Given the description of an element on the screen output the (x, y) to click on. 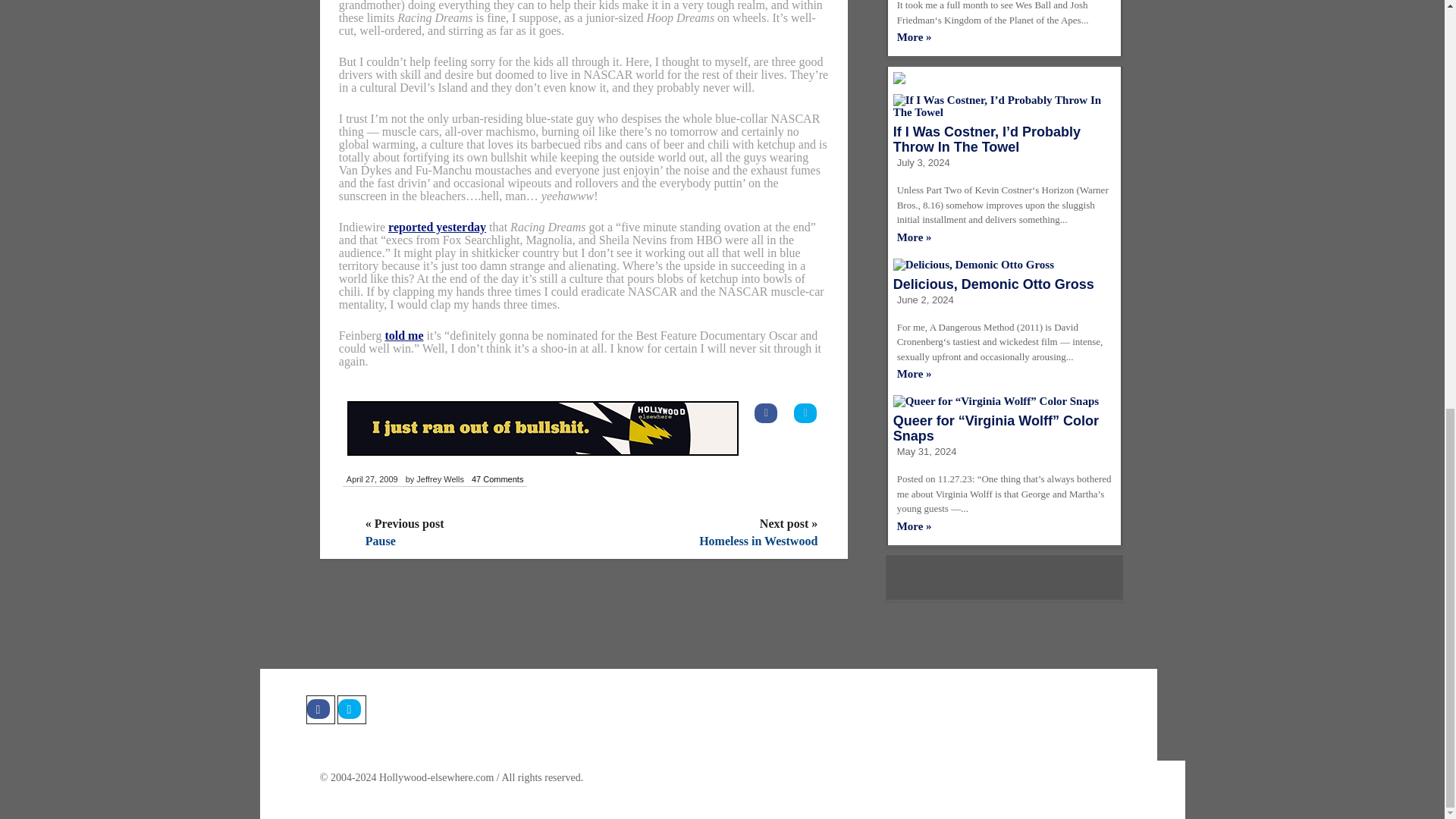
told me (403, 335)
Twitter (350, 709)
reported yesterday (437, 226)
47 Comments (497, 479)
by Jeffrey Wells (434, 479)
Facebook (319, 709)
April 27, 2009 (371, 479)
